Given the description of an element on the screen output the (x, y) to click on. 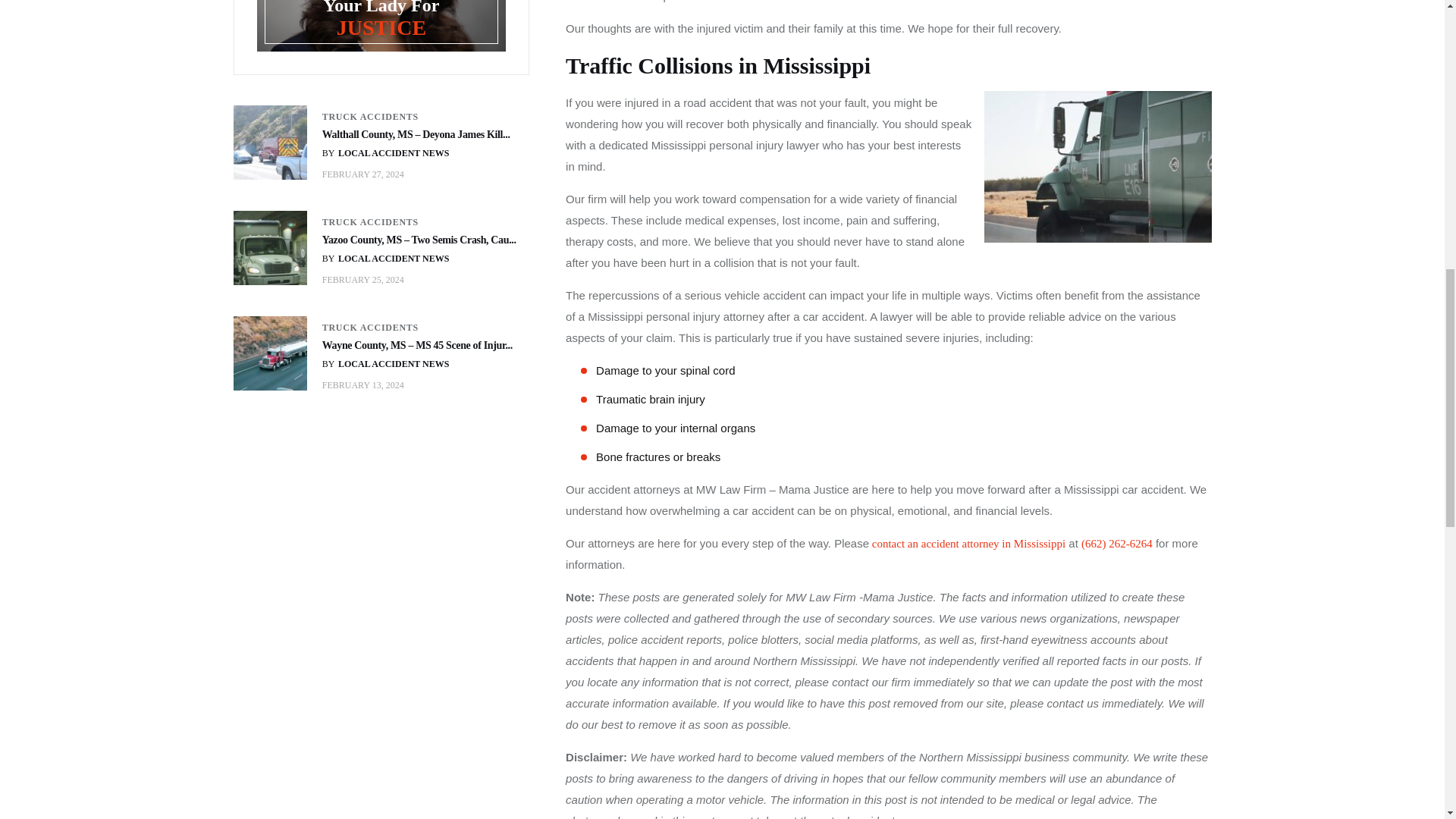
TRUCK ACCIDENTS (370, 222)
TRUCK ACCIDENTS (370, 116)
BY LOCAL ACCIDENT NEWS (385, 364)
contact an accident attorney in Mississippi (967, 543)
BY LOCAL ACCIDENT NEWS (385, 152)
BY LOCAL ACCIDENT NEWS (385, 258)
TRUCK ACCIDENTS (370, 327)
